Given the description of an element on the screen output the (x, y) to click on. 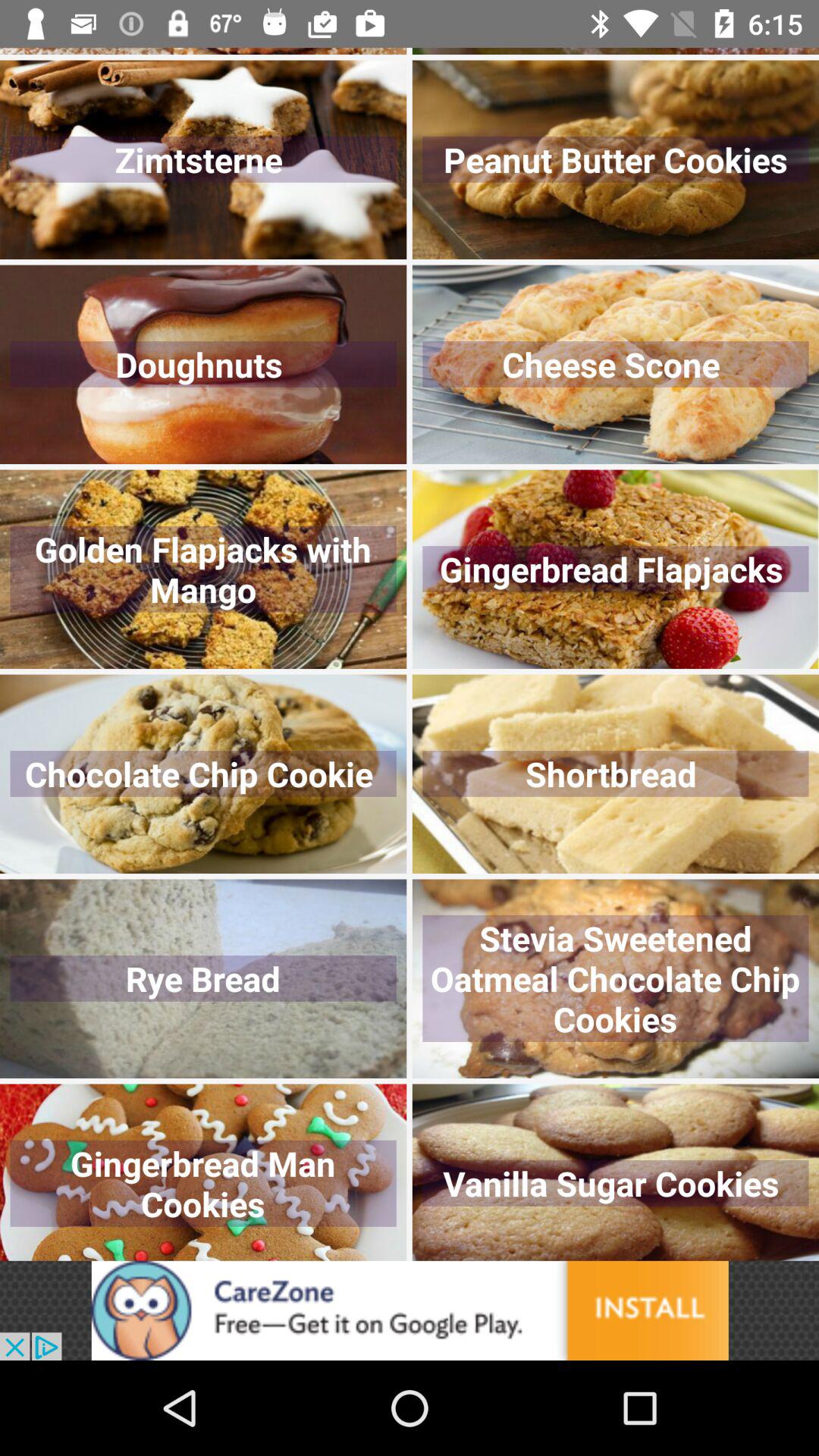
advertisement (409, 1310)
